Given the description of an element on the screen output the (x, y) to click on. 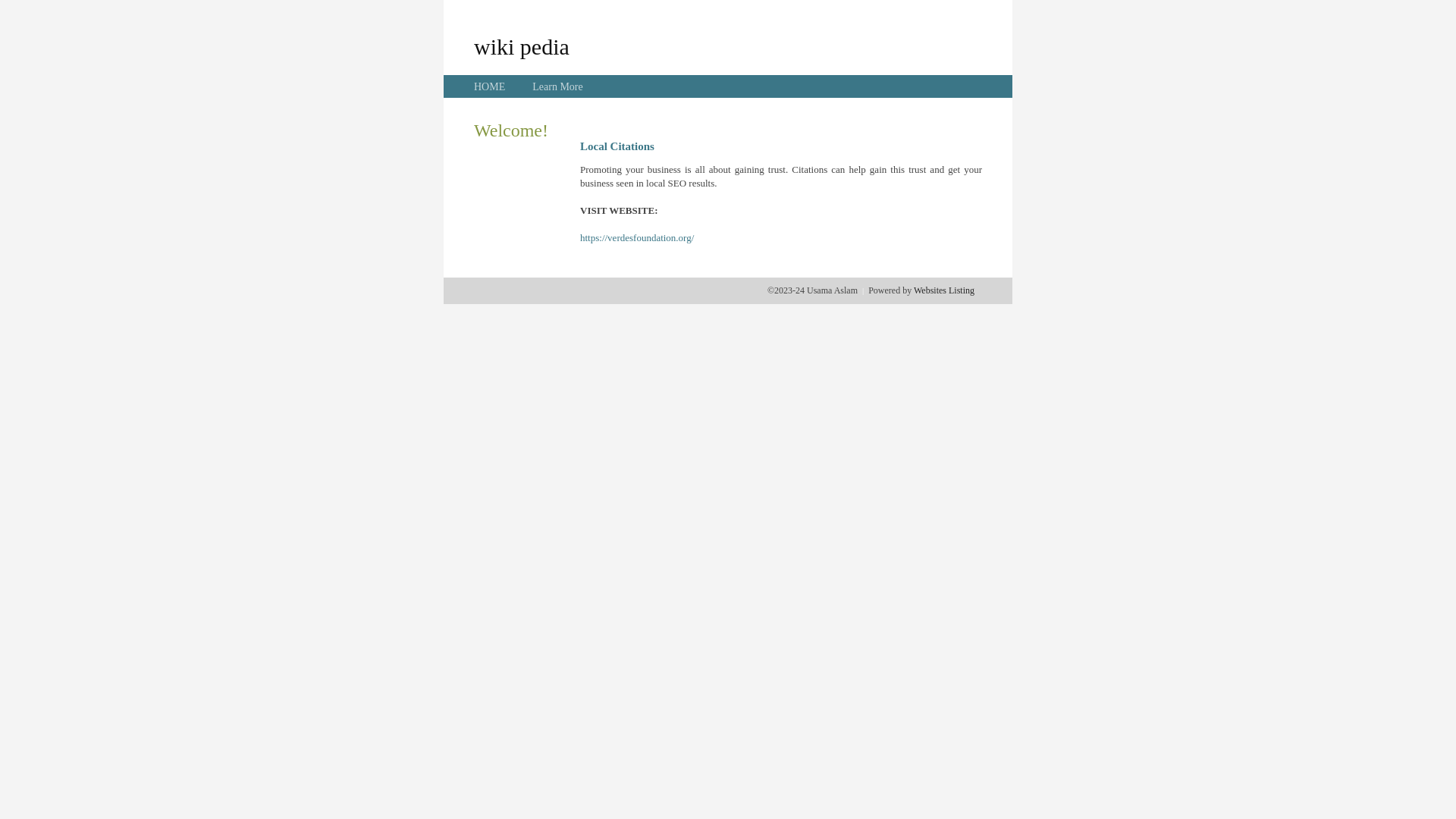
Websites Listing Element type: text (943, 290)
Learn More Element type: text (557, 86)
HOME Element type: text (489, 86)
wiki pedia Element type: text (521, 46)
https://verdesfoundation.org/ Element type: text (636, 237)
